Given the description of an element on the screen output the (x, y) to click on. 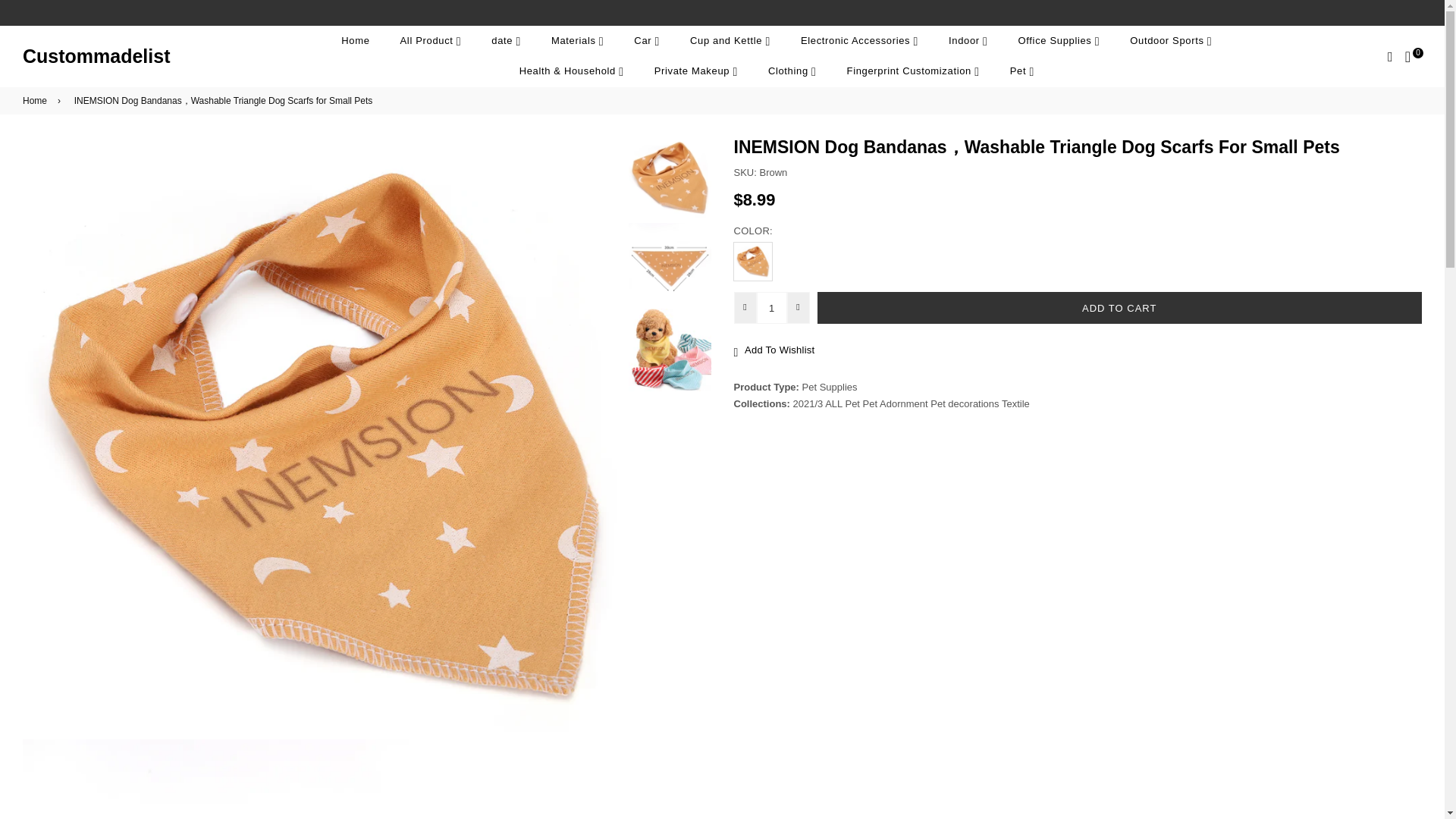
Back to the home page (37, 100)
Materials (576, 40)
All Product (431, 40)
Pet Supplies (829, 387)
date (505, 40)
Add to Wishlist (1077, 350)
Cup and Kettle (730, 40)
Car (646, 40)
1 (772, 307)
Custommadelist (96, 55)
Brown (752, 261)
Home (355, 40)
